Given the description of an element on the screen output the (x, y) to click on. 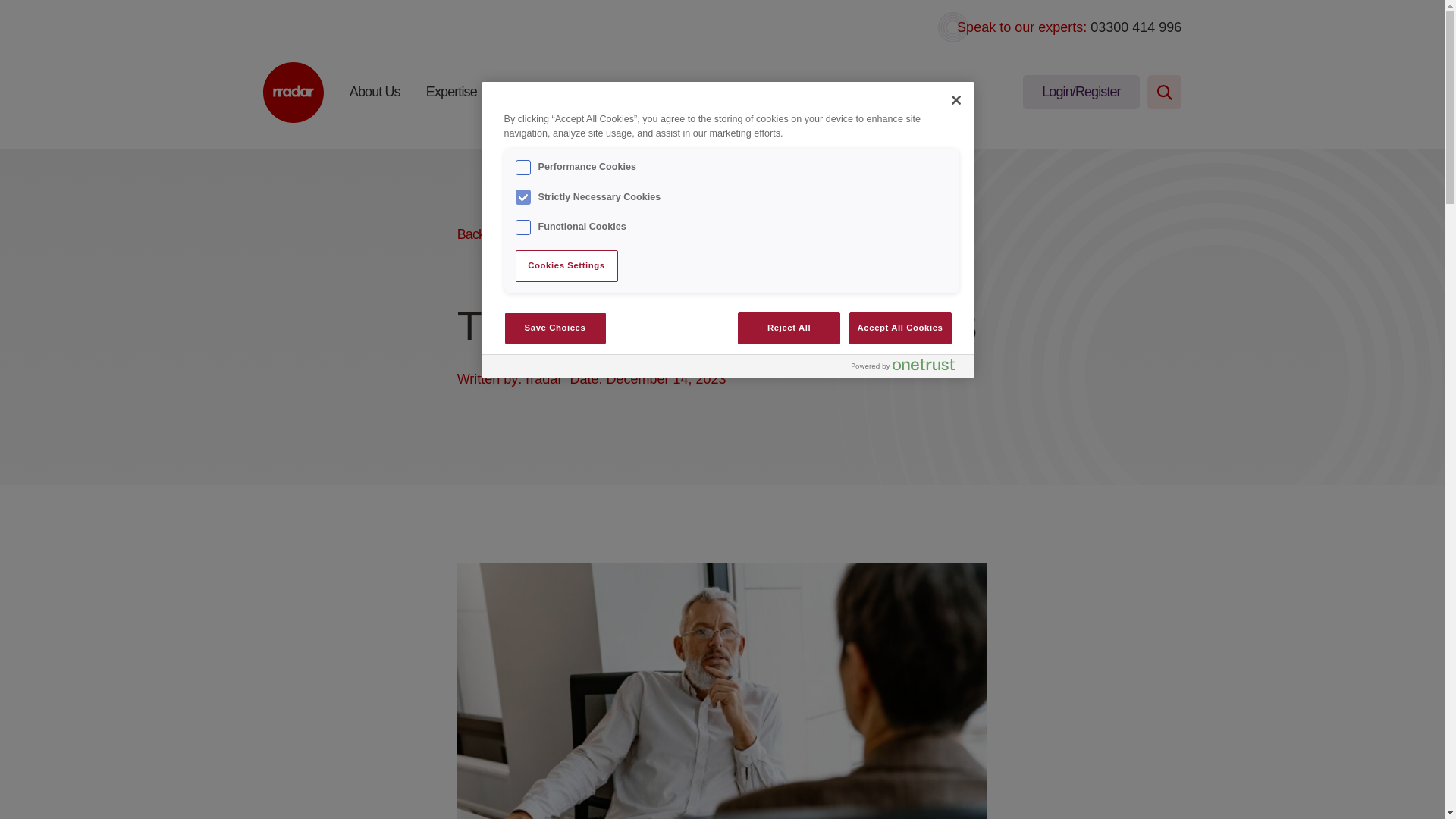
Expertise (451, 91)
Powered by OneTrust Opens in a new Tab (901, 364)
About Us (374, 91)
